Given the description of an element on the screen output the (x, y) to click on. 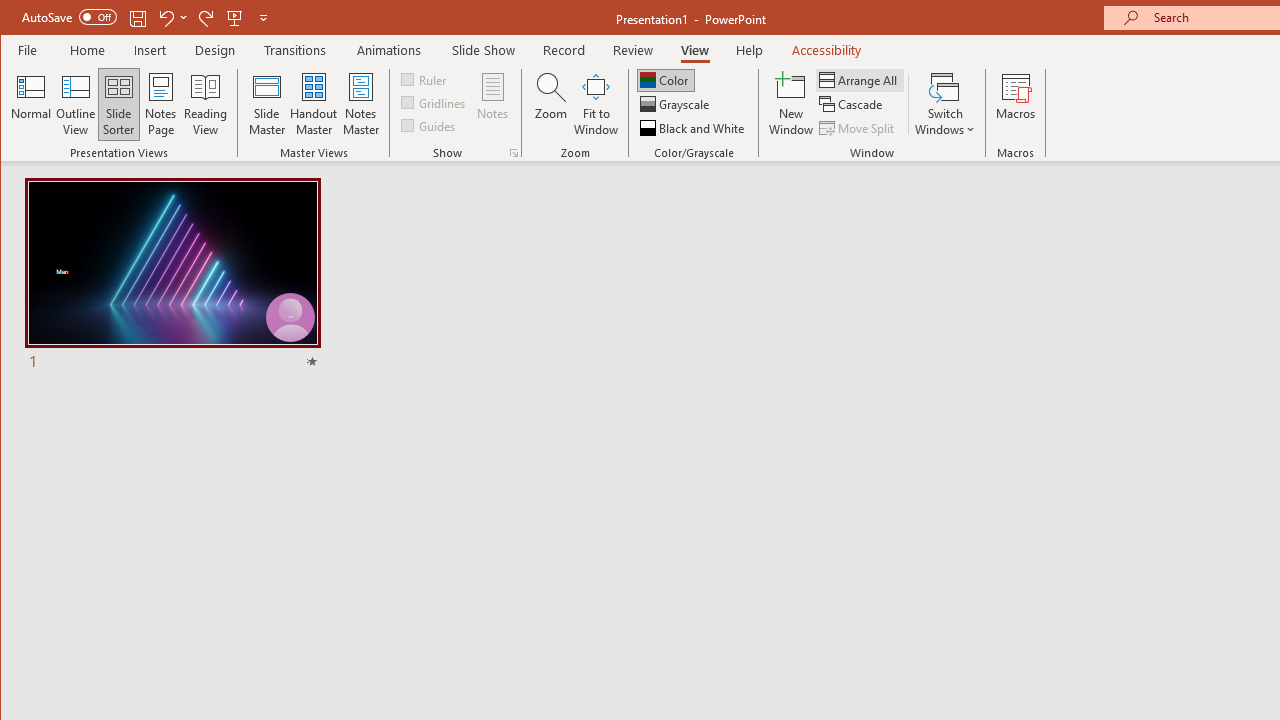
Grid Settings... (513, 152)
Notes Master (360, 104)
Notes (493, 104)
Color (666, 80)
Ruler (425, 78)
Notes Page (160, 104)
New Window (791, 104)
Guides (430, 124)
